Given the description of an element on the screen output the (x, y) to click on. 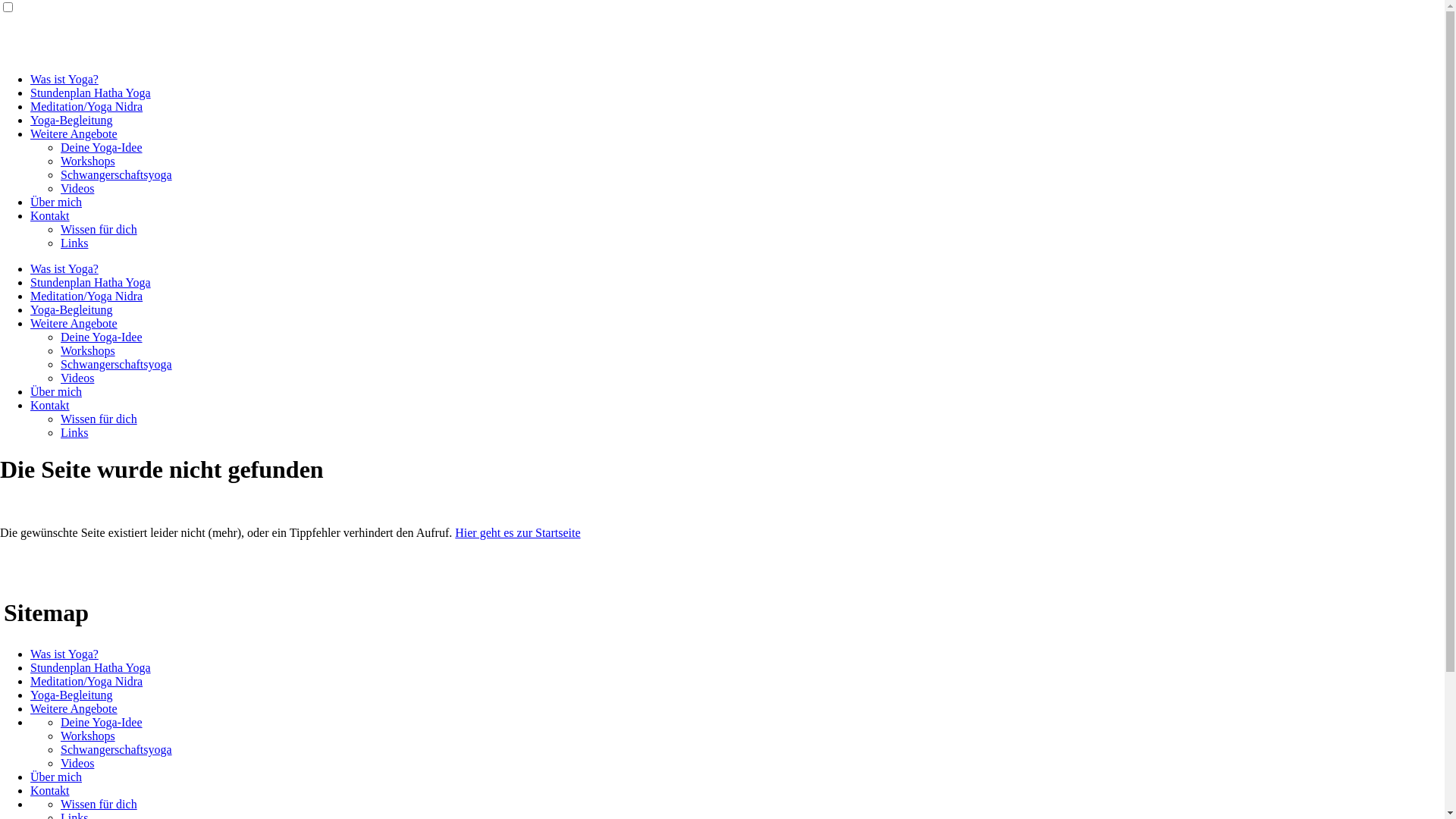
Yoga-Begleitung Element type: text (71, 694)
Videos Element type: text (77, 377)
Yoga-Begleitung Element type: text (71, 309)
Meditation/Yoga Nidra Element type: text (86, 106)
Was ist Yoga? Element type: text (64, 653)
Meditation/Yoga Nidra Element type: text (86, 680)
Workshops Element type: text (87, 160)
Kontakt Element type: text (49, 404)
Deine Yoga-Idee Element type: text (101, 721)
Videos Element type: text (77, 762)
Workshops Element type: text (87, 735)
Was ist Yoga? Element type: text (64, 268)
Videos Element type: text (77, 188)
Schwangerschaftsyoga Element type: text (116, 749)
Weitere Angebote Element type: text (73, 708)
Deine Yoga-Idee Element type: text (101, 336)
Workshops Element type: text (87, 350)
Stundenplan Hatha Yoga Element type: text (90, 92)
Hier geht es zur Startseite Element type: text (517, 532)
Kontakt Element type: text (49, 215)
Schwangerschaftsyoga Element type: text (116, 363)
Stundenplan Hatha Yoga Element type: text (90, 667)
Kontakt Element type: text (49, 790)
Links Element type: text (73, 432)
Schwangerschaftsyoga Element type: text (116, 174)
Yoga-Begleitung Element type: text (71, 119)
Was ist Yoga? Element type: text (64, 78)
Weitere Angebote Element type: text (73, 322)
Weitere Angebote Element type: text (73, 133)
Links Element type: text (73, 242)
Deine Yoga-Idee Element type: text (101, 147)
Meditation/Yoga Nidra Element type: text (86, 295)
Stundenplan Hatha Yoga Element type: text (90, 282)
